Given the description of an element on the screen output the (x, y) to click on. 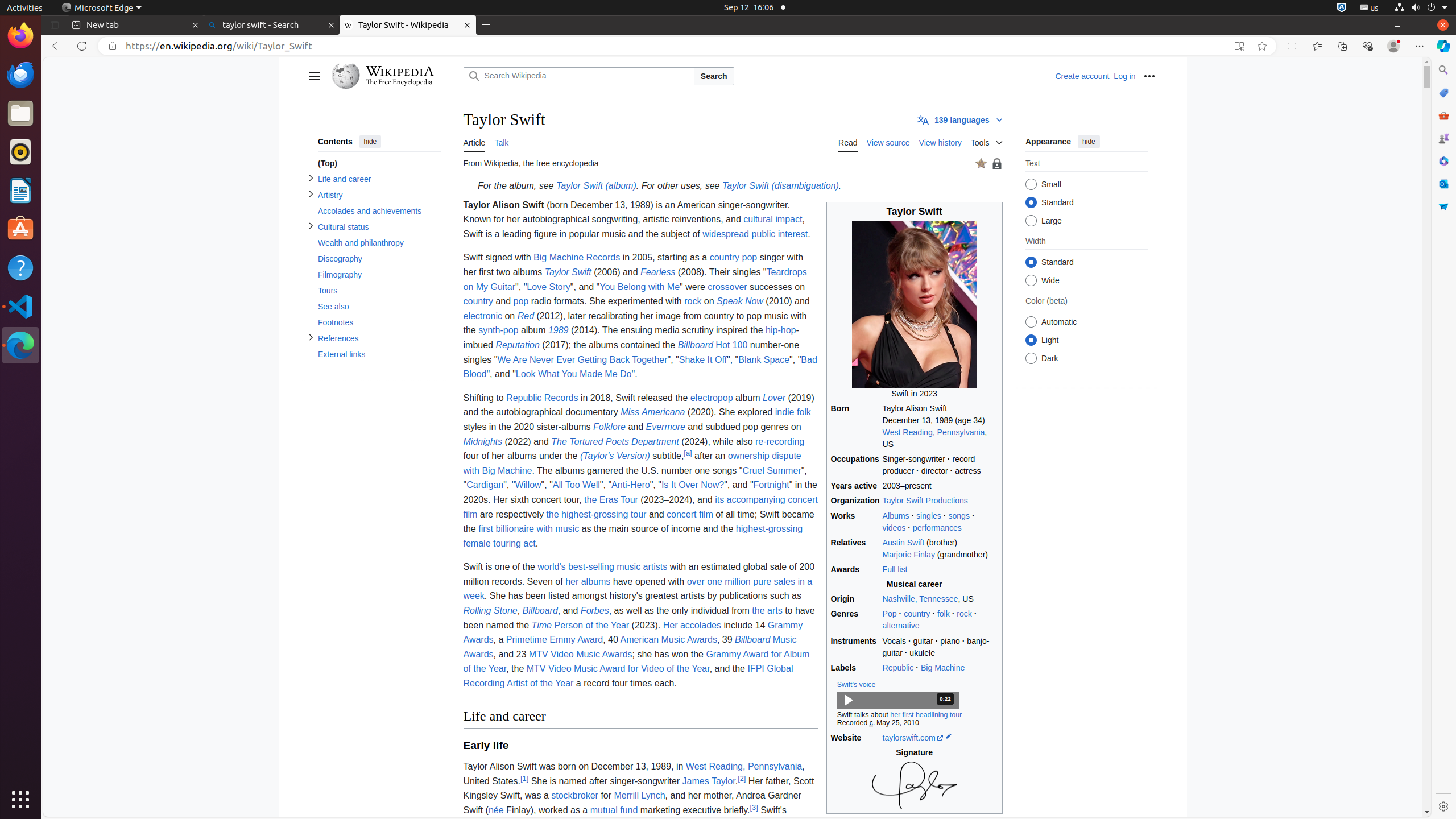
Pop · country · folk · rock · alternative Element type: table-cell (939, 620)
Toggle References subsection Element type: push-button (310, 337)
Main menu Element type: push-button (313, 76)
the Eras Tour Element type: link (611, 499)
View history Element type: link (939, 141)
